Given the description of an element on the screen output the (x, y) to click on. 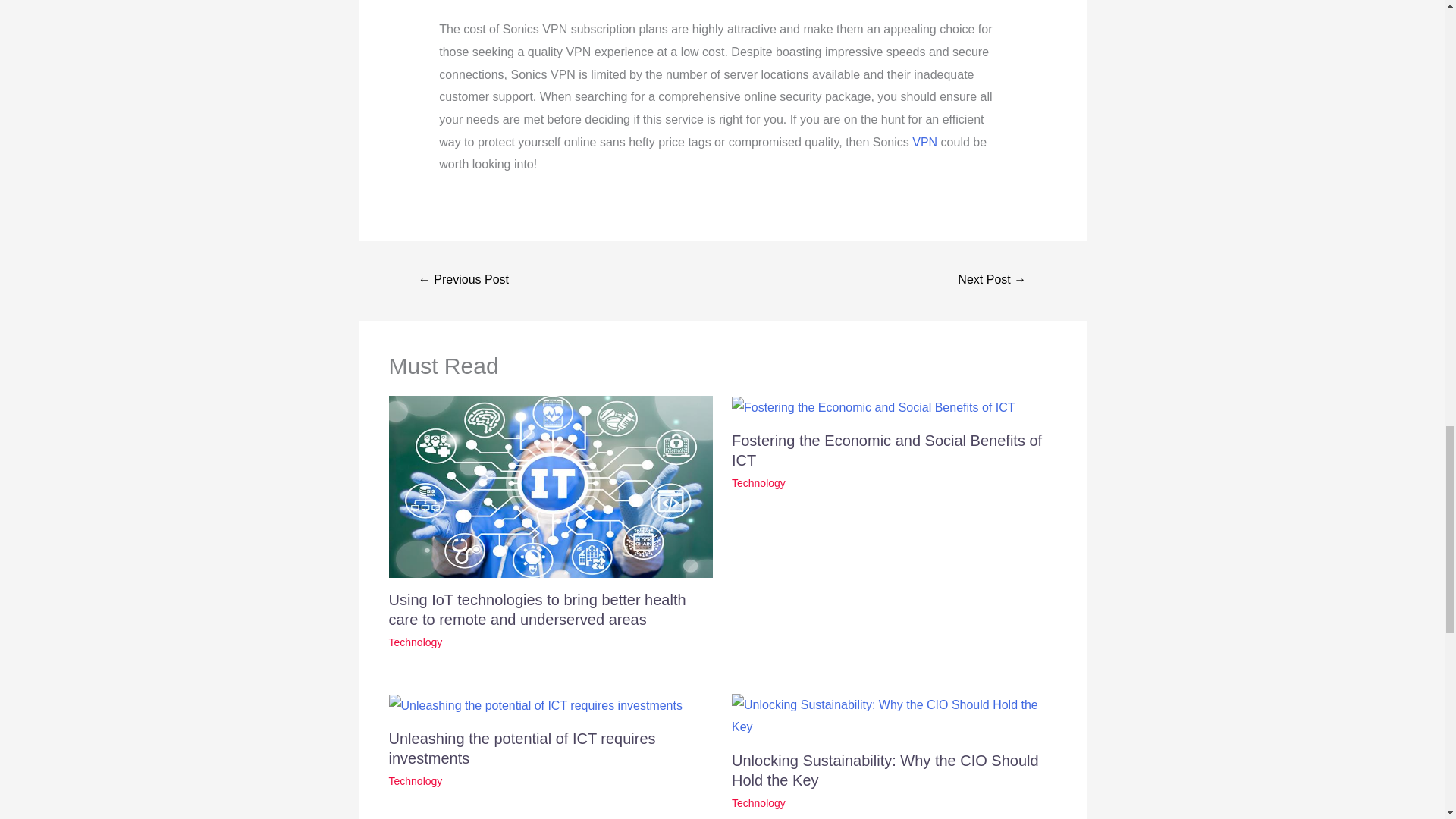
VPN (924, 141)
Unlocking Sustainability: Why the CIO Should Hold the Key (885, 770)
4 Benefits of Outstanding Logo Design In Digital Marketing (463, 280)
Fostering the Economic and Social Benefits of ICT (887, 450)
Technology (759, 482)
Technology (415, 642)
Technology (759, 802)
Unleashing the potential of ICT requires investments (521, 748)
